Given the description of an element on the screen output the (x, y) to click on. 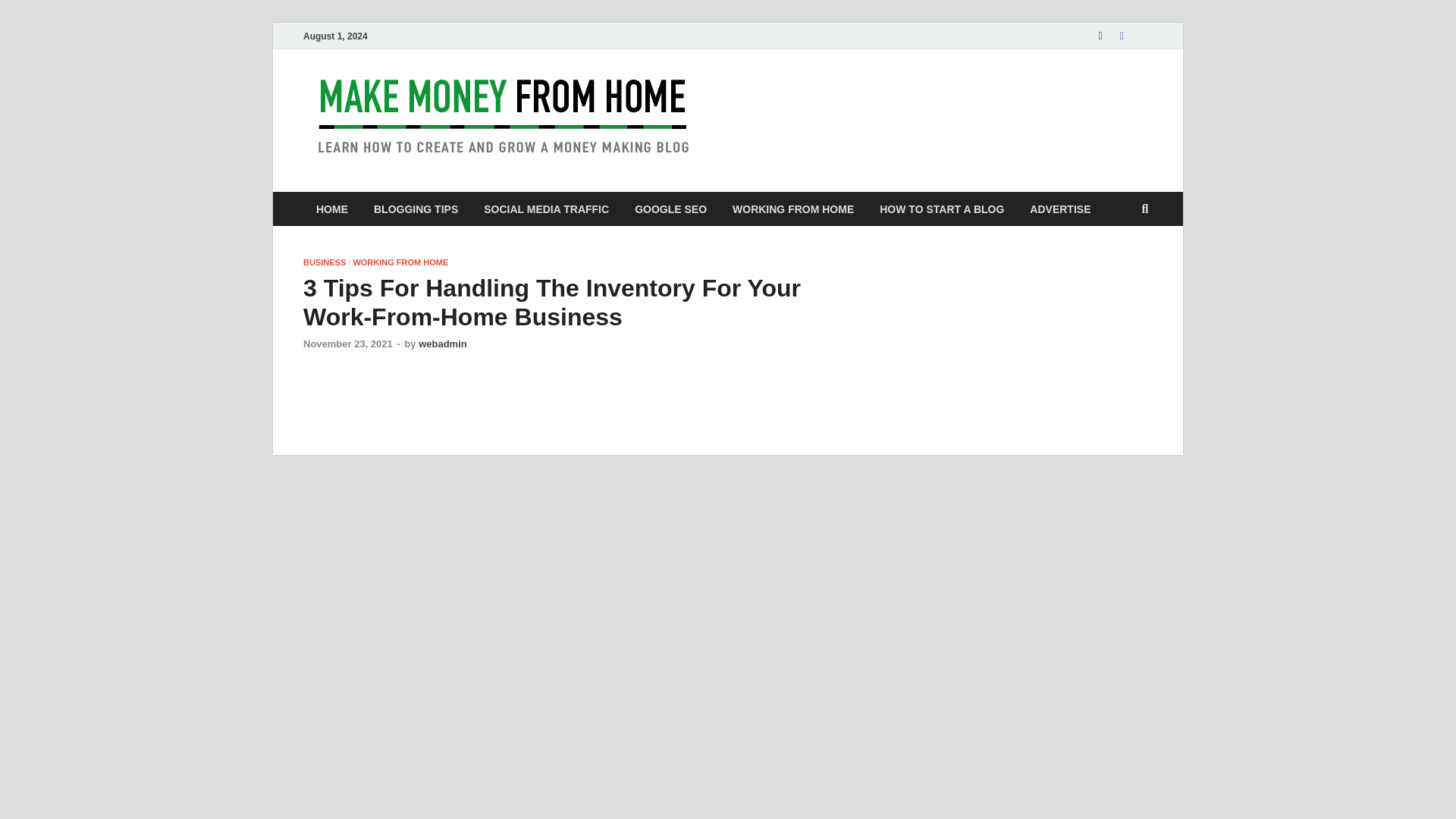
ADVERTISE (1059, 208)
HOME (331, 208)
BUSINESS (324, 261)
BLOGGING TIPS (415, 208)
November 23, 2021 (347, 343)
HOW TO START A BLOG (941, 208)
webadmin (443, 343)
WORKING FROM HOME (792, 208)
Money Home Blog (835, 100)
SOCIAL MEDIA TRAFFIC (545, 208)
